Given the description of an element on the screen output the (x, y) to click on. 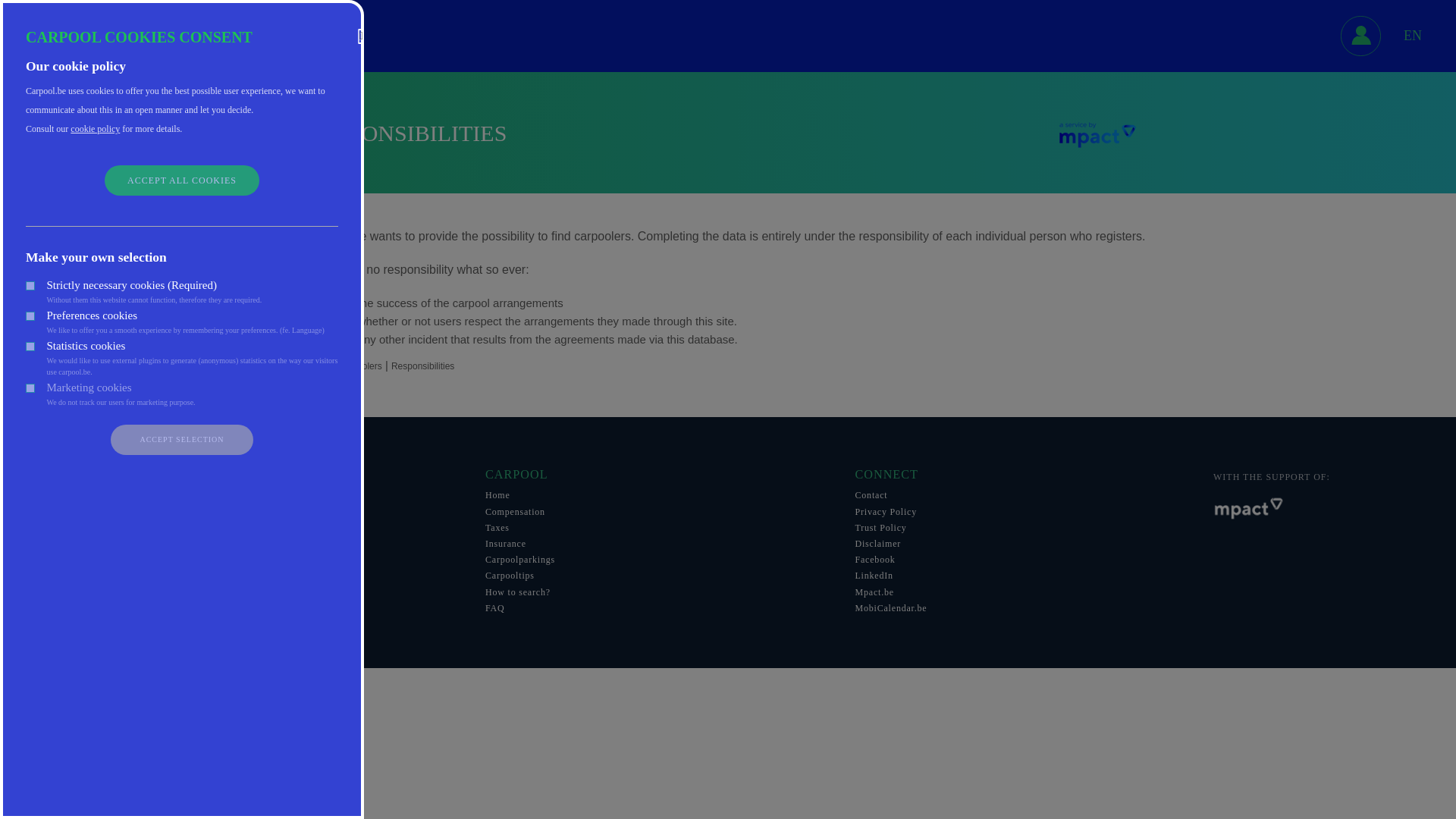
FAQ (658, 608)
Carpoolparkings (658, 559)
Carpooltips (658, 575)
Compensation (658, 511)
Responsibilities (422, 366)
Taxes (658, 527)
Insurance (658, 543)
EN (1412, 35)
How to search? (658, 591)
Home (658, 495)
